Given the description of an element on the screen output the (x, y) to click on. 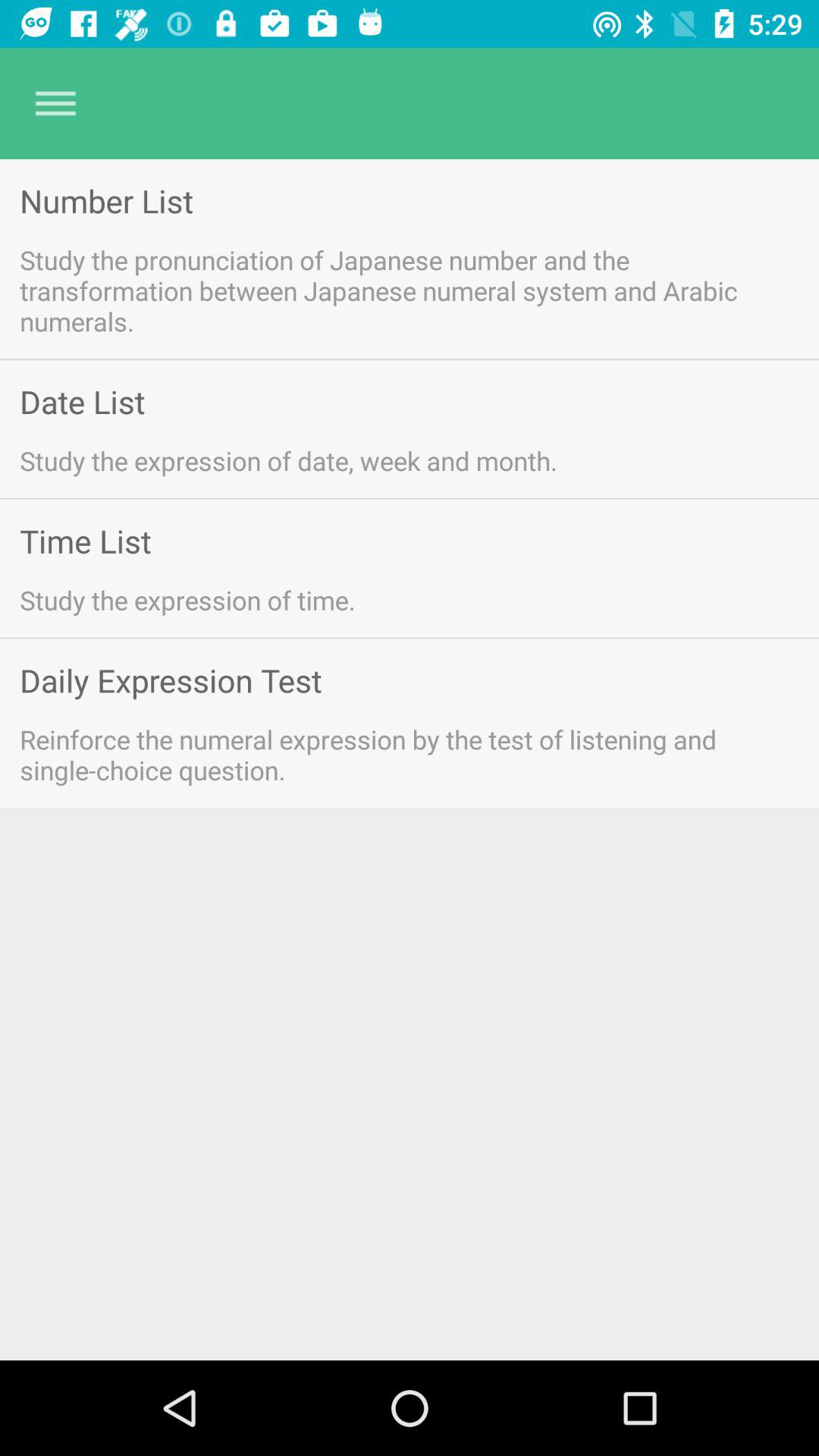
click icon below daily expression test (389, 754)
